Given the description of an element on the screen output the (x, y) to click on. 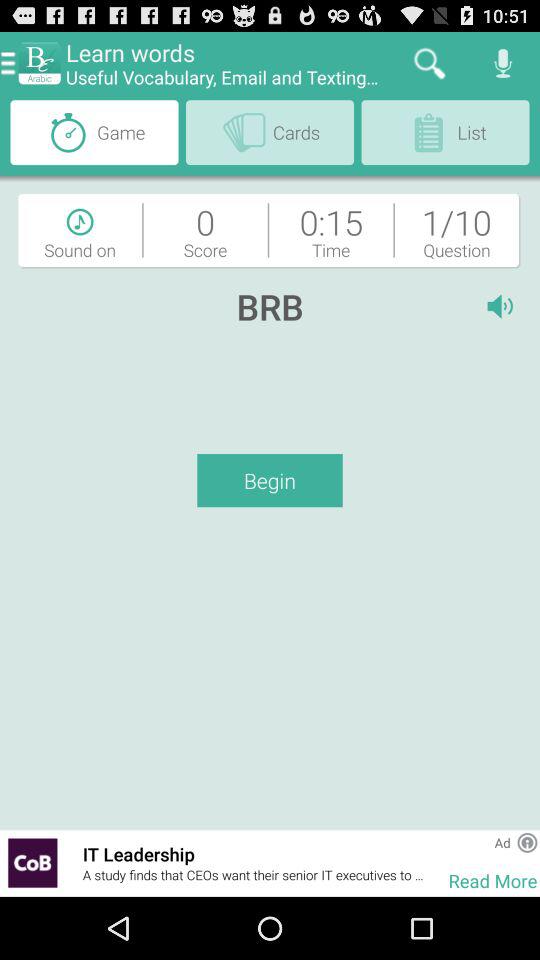
email texting (32, 862)
